Given the description of an element on the screen output the (x, y) to click on. 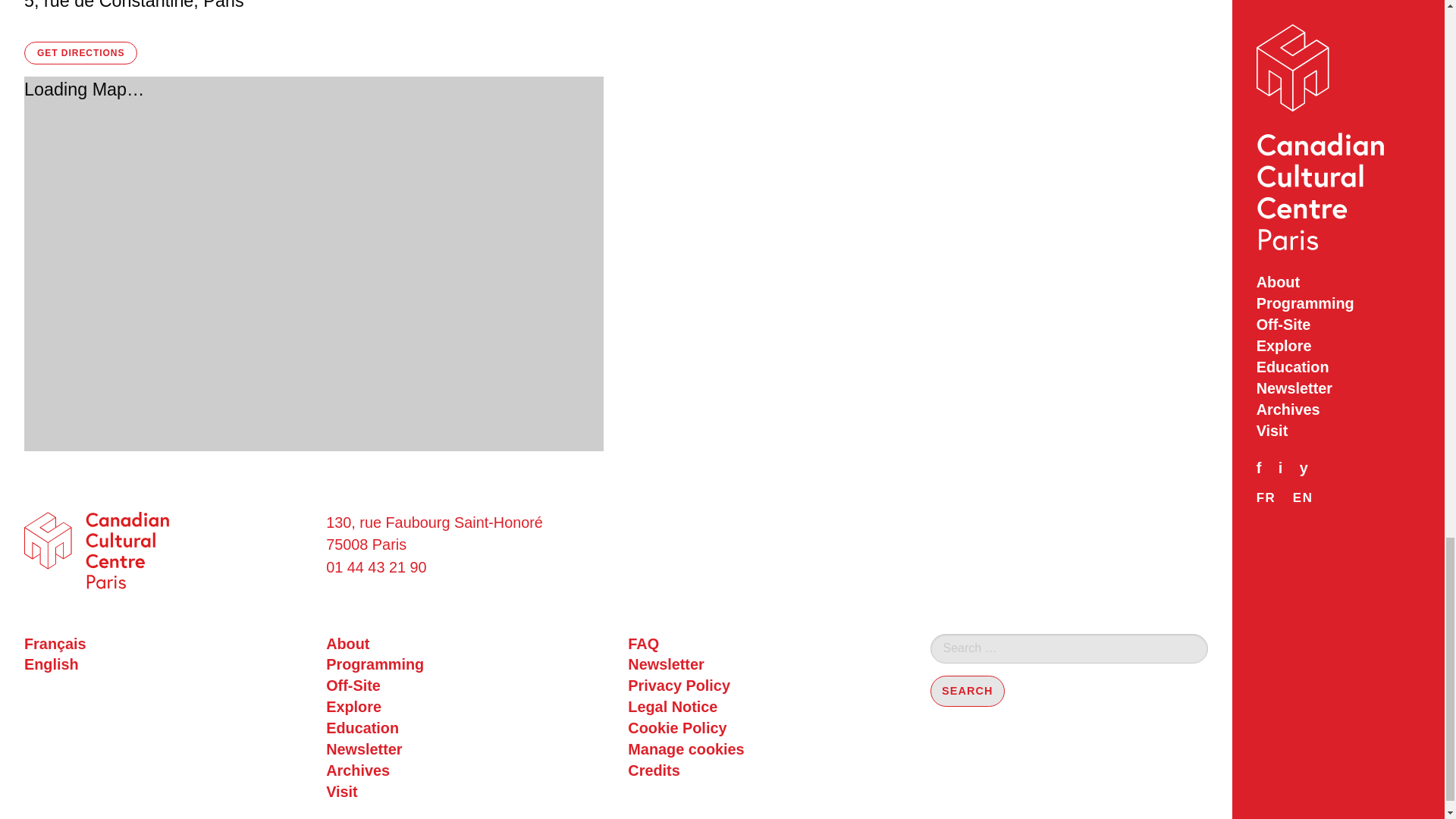
Legal Notice (766, 707)
About (465, 644)
Search (967, 690)
FAQ (766, 644)
Cookie Policy (766, 728)
Education (465, 728)
Programming (465, 664)
Explore (465, 707)
Search (967, 690)
GET DIRECTIONS (80, 52)
Newsletter (465, 749)
Privacy Policy (766, 685)
Off-Site (465, 685)
Search (967, 690)
Archives (465, 771)
